Given the description of an element on the screen output the (x, y) to click on. 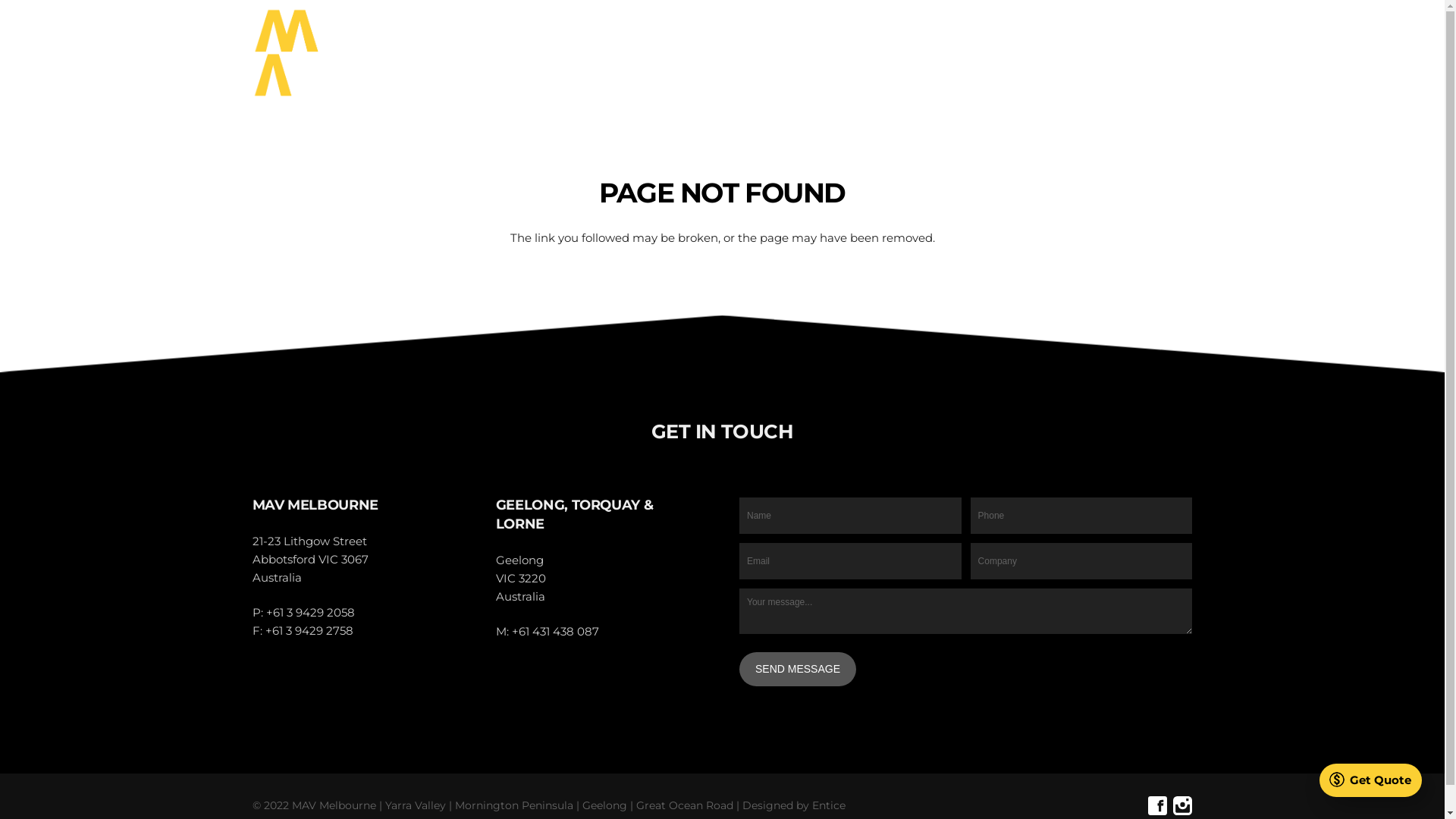
CONTACT US Element type: text (1030, 52)
HOME Element type: text (564, 52)
SEND MESSAGE Element type: text (797, 669)
OUR SERVICES Element type: text (734, 52)
+61 431 438 087 Element type: text (555, 631)
ABOUT US Element type: text (1125, 52)
HYBRID EVENTS Element type: text (856, 52)
Get Quote Element type: text (1370, 779)
Designed by Entice Element type: text (792, 805)
NEWS Element type: text (948, 52)
VENUES Element type: text (633, 52)
+61 3 9429 2058 Element type: text (309, 612)
